Given the description of an element on the screen output the (x, y) to click on. 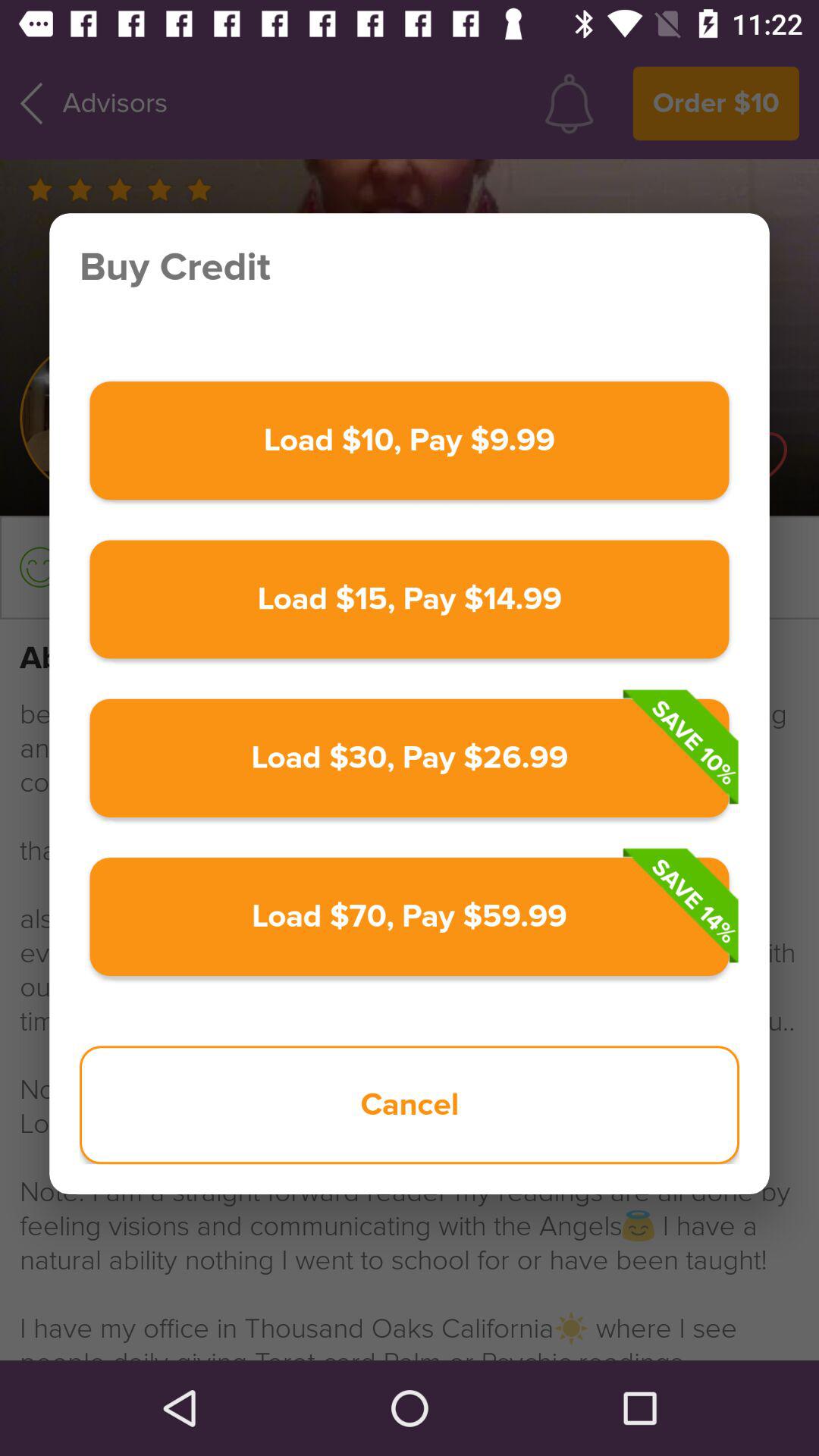
open cancel icon (409, 1104)
